Given the description of an element on the screen output the (x, y) to click on. 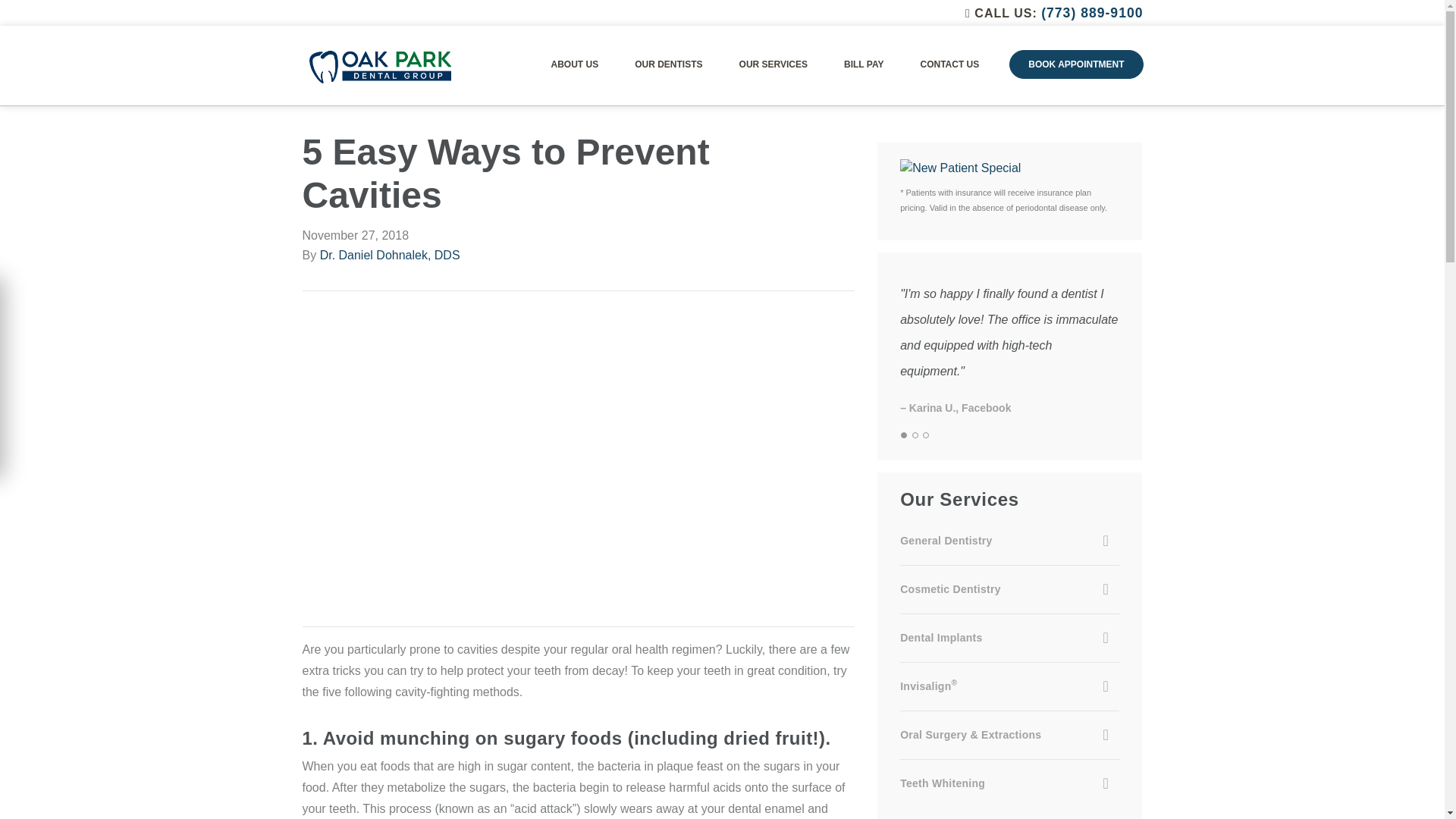
General Dentistry (1009, 540)
Our Services (773, 64)
BOOK APPOINTMENT (1075, 63)
OUR DENTISTS (668, 64)
CONTACT US (949, 64)
Our Dentists (668, 64)
Dental Implants (1009, 638)
OUR SERVICES (773, 64)
Dr. Daniel Dohnalek, DDS (390, 254)
Cosmetic Dentistry (1009, 589)
